Given the description of an element on the screen output the (x, y) to click on. 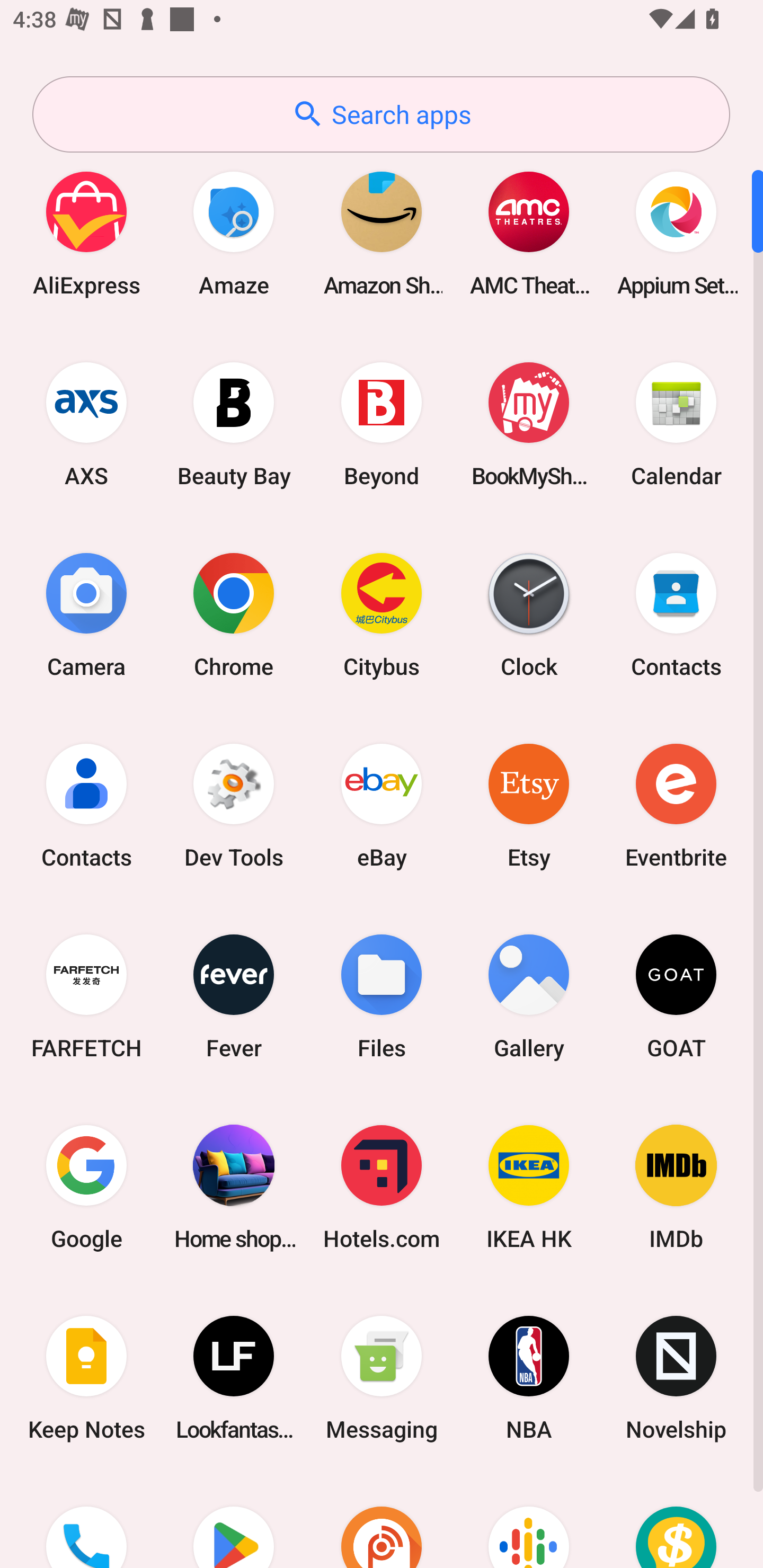
  Search apps (381, 114)
AliExpress (86, 233)
Amaze (233, 233)
Amazon Shopping (381, 233)
AMC Theatres (528, 233)
Appium Settings (676, 233)
AXS (86, 424)
Beauty Bay (233, 424)
Beyond (381, 424)
BookMyShow (528, 424)
Calendar (676, 424)
Camera (86, 614)
Chrome (233, 614)
Citybus (381, 614)
Clock (528, 614)
Contacts (676, 614)
Contacts (86, 805)
Dev Tools (233, 805)
eBay (381, 805)
Etsy (528, 805)
Eventbrite (676, 805)
FARFETCH (86, 996)
Fever (233, 996)
Files (381, 996)
Gallery (528, 996)
GOAT (676, 996)
Google (86, 1186)
Home shopping (233, 1186)
Hotels.com (381, 1186)
IKEA HK (528, 1186)
IMDb (676, 1186)
Keep Notes (86, 1377)
Lookfantastic (233, 1377)
Messaging (381, 1377)
NBA (528, 1377)
Novelship (676, 1377)
Phone (86, 1520)
Play Store (233, 1520)
Podcast Addict (381, 1520)
Podcasts (528, 1520)
Price (676, 1520)
